Given the description of an element on the screen output the (x, y) to click on. 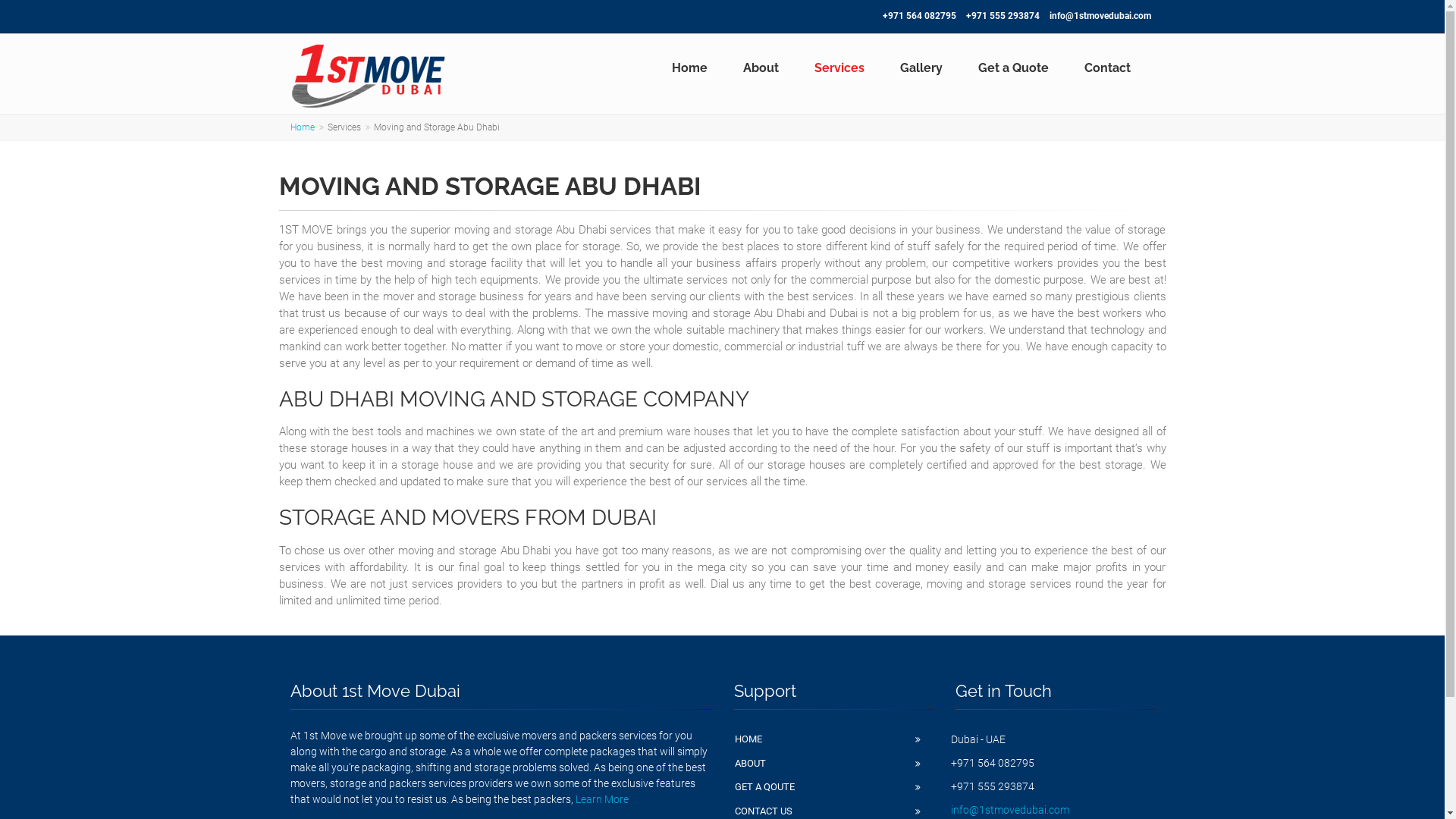
Home Element type: text (301, 127)
Gallery Element type: text (923, 65)
ABOUT Element type: text (833, 763)
Contact Element type: text (1109, 65)
+971 555 293874 Element type: text (1002, 15)
Services Element type: text (841, 65)
GET A QOUTE Element type: text (833, 786)
info@1stmovedubai.com Element type: text (1100, 15)
Home Element type: text (691, 65)
HOME Element type: text (833, 739)
info@1stmovedubai.com Element type: text (1009, 809)
Get a Quote Element type: text (1015, 65)
About Element type: text (762, 65)
+971 564 082795 Element type: text (919, 15)
Learn More Element type: text (600, 799)
